Given the description of an element on the screen output the (x, y) to click on. 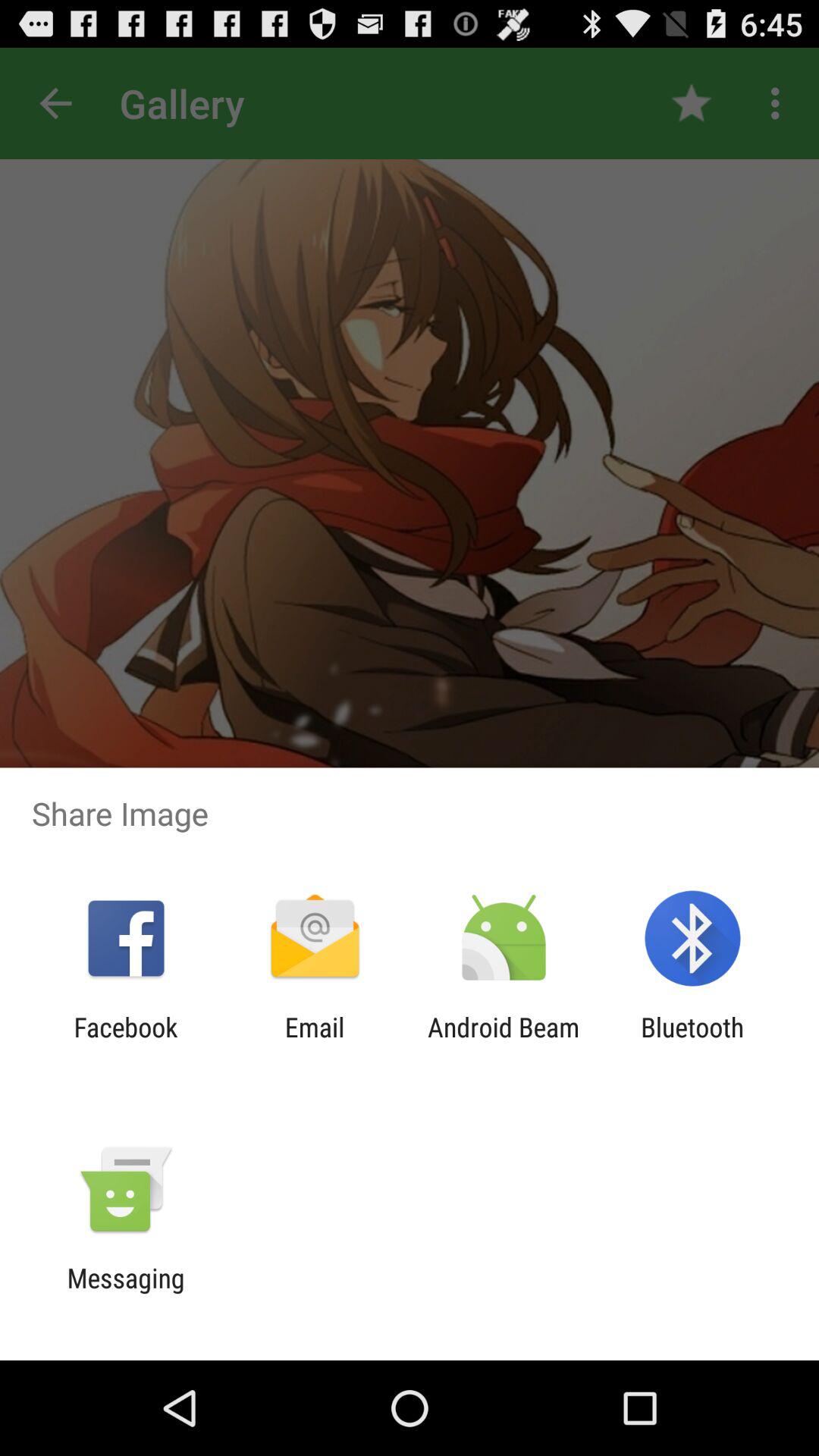
scroll to email app (314, 1042)
